Given the description of an element on the screen output the (x, y) to click on. 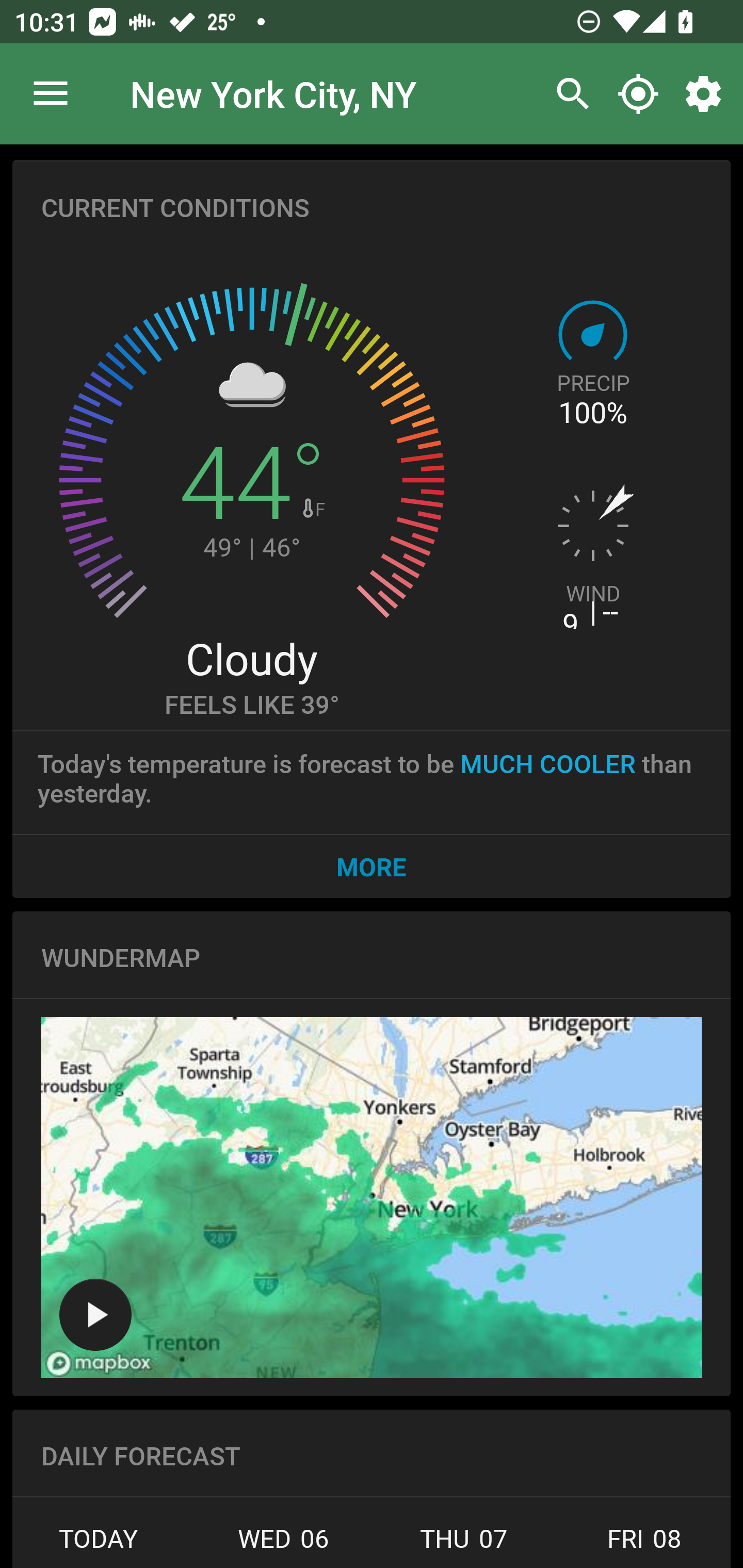
Press to open location manager. (50, 93)
Search for location (567, 94)
Select GPS location (637, 94)
Settings (706, 94)
New York City, NY (273, 92)
100% (592, 412)
Cloudy (251, 657)
MORE (371, 865)
Weather Map (371, 1197)
Weather Map (95, 1314)
TODAY (102, 1544)
WED 06 (283, 1544)
THU 07 (463, 1544)
FRI 08 (642, 1544)
